Given the description of an element on the screen output the (x, y) to click on. 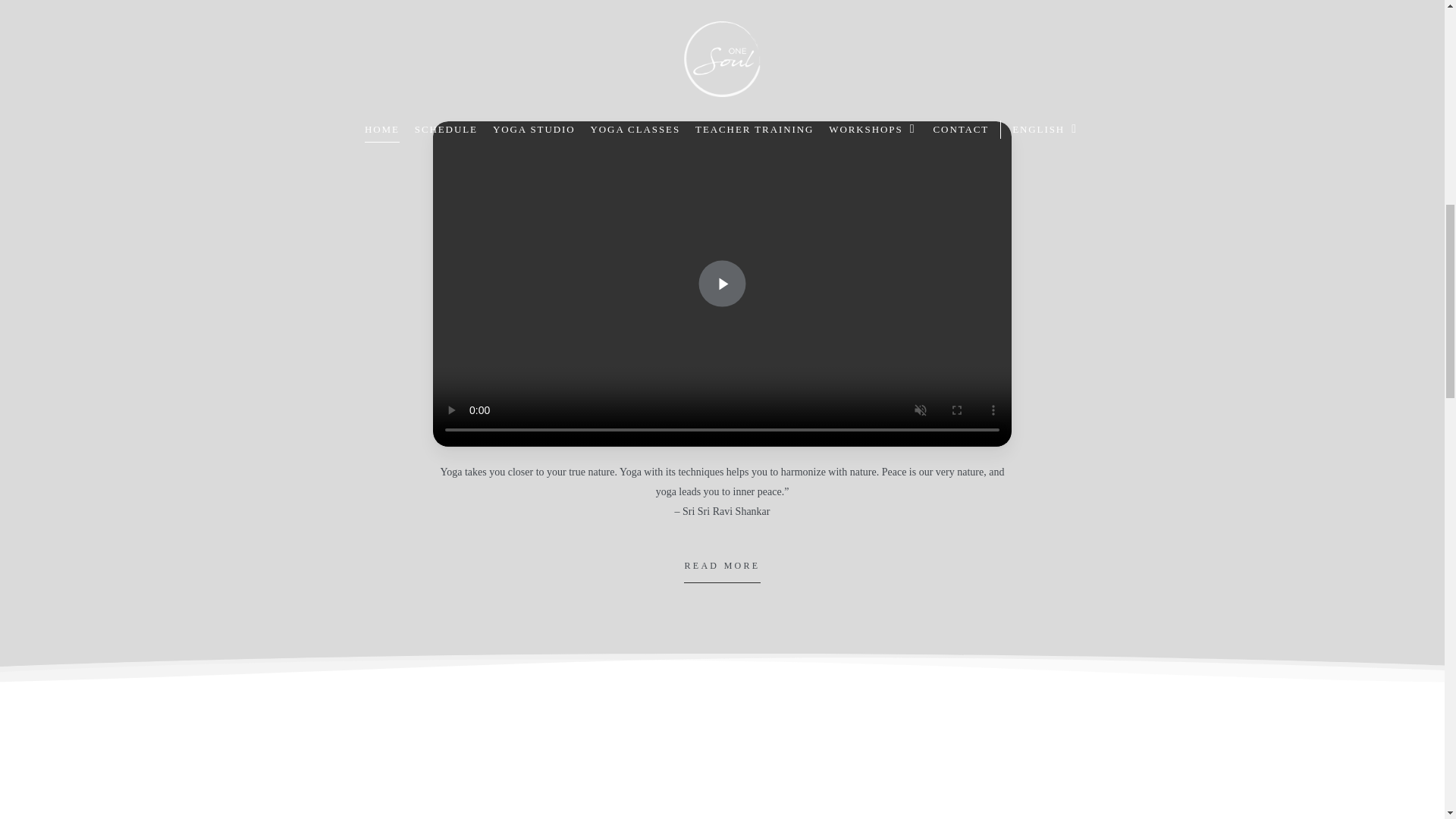
READ MORE (722, 565)
